Given the description of an element on the screen output the (x, y) to click on. 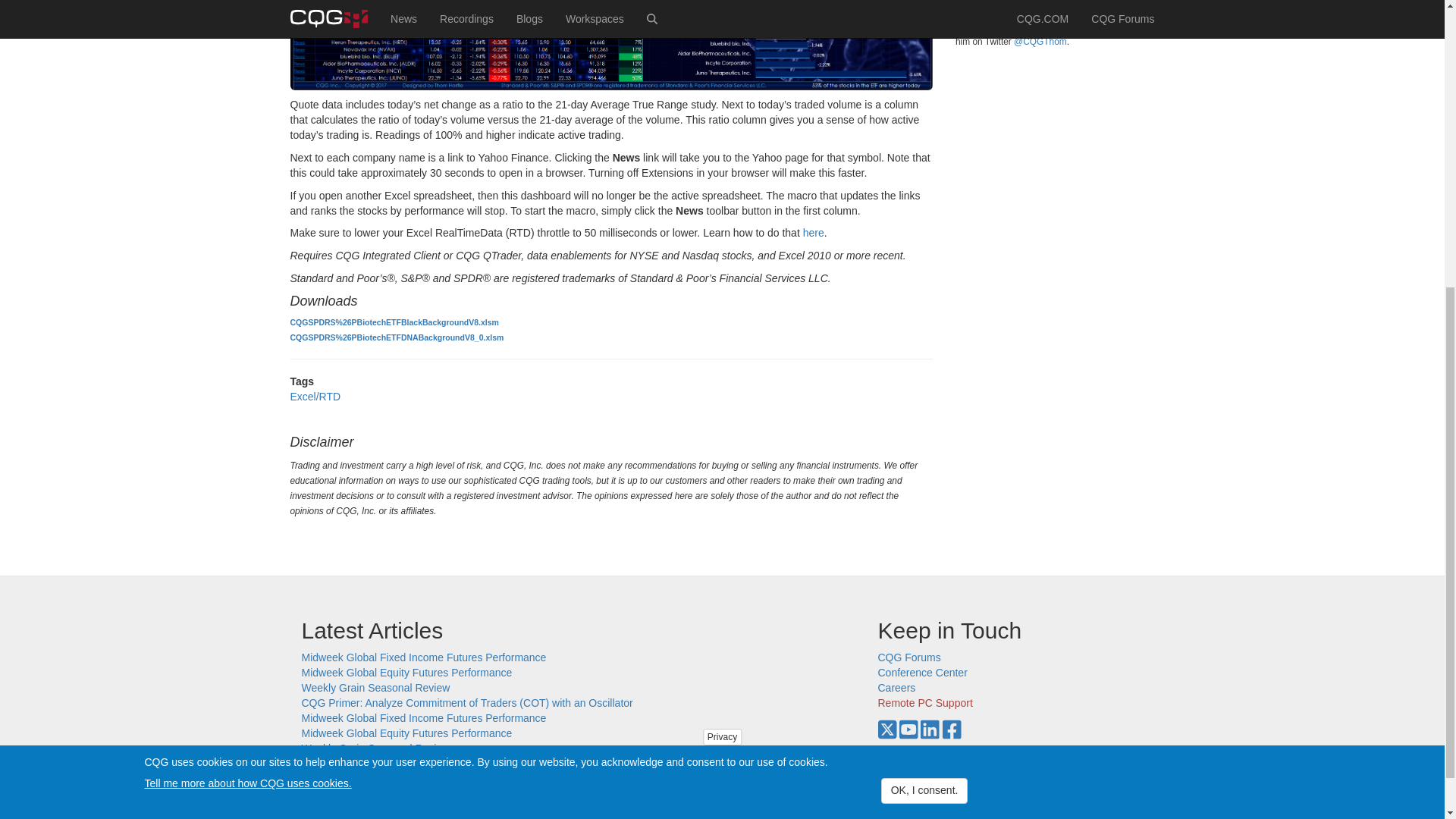
here (813, 232)
Weekly Grain Seasonal Review (375, 748)
Midweek Global Fixed Income Futures Performance (424, 717)
Midweek Global Equity Futures Performance (406, 733)
Excel 365 Filter Function (360, 778)
Weekly Grain Seasonal Review (375, 687)
Careers (896, 687)
Conference Center (922, 672)
Midweek Global Equity Futures Performance (406, 672)
CQG Forums (908, 657)
Midweek Global Fixed Income Futures Performance (424, 657)
Privacy (722, 276)
Remote PC Support (924, 702)
Midweek Global Fixed Income Futures Performance (424, 793)
